Given the description of an element on the screen output the (x, y) to click on. 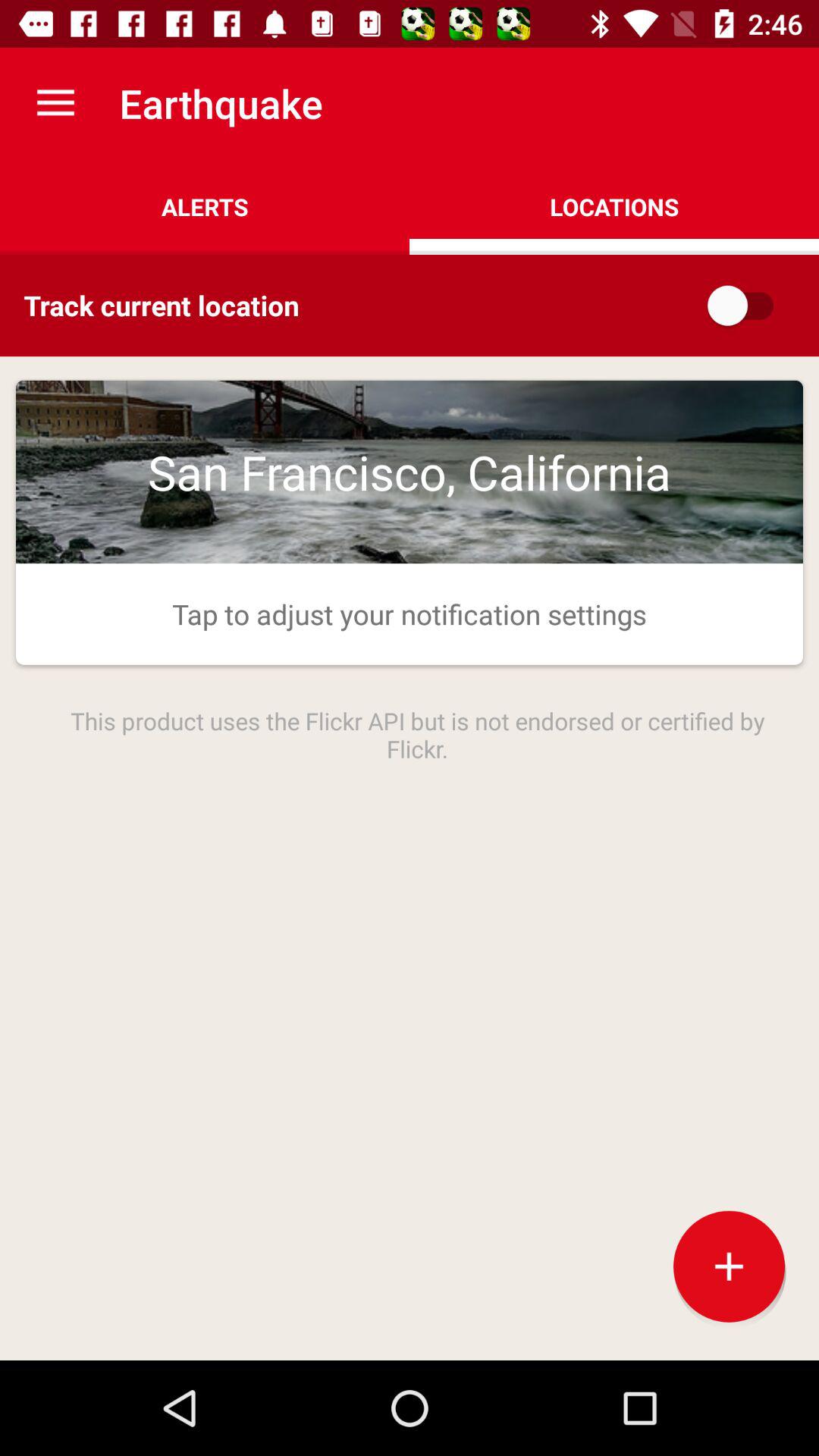
swipe until the alerts item (204, 206)
